Given the description of an element on the screen output the (x, y) to click on. 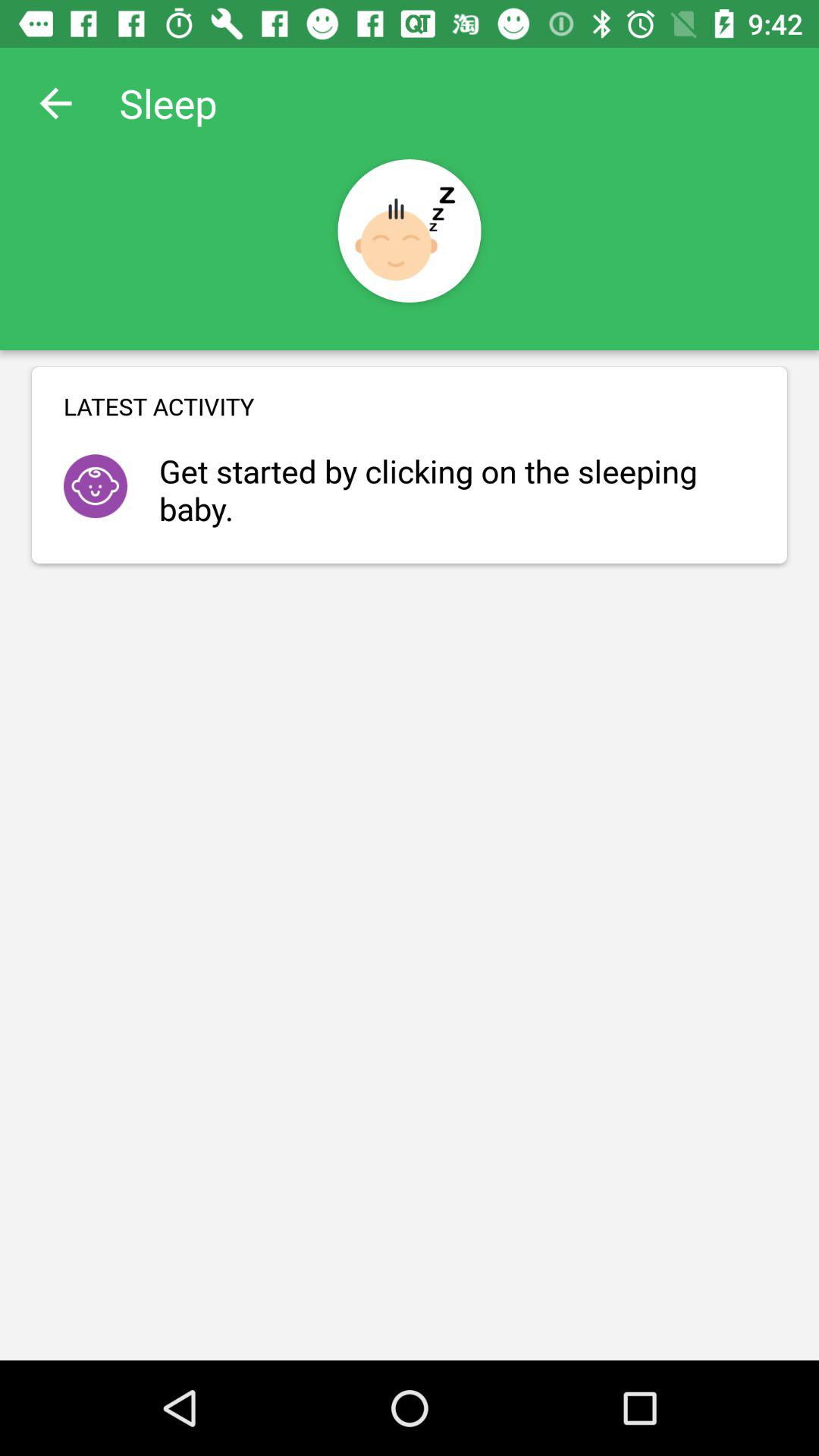
turn on the icon to the left of sleep (55, 103)
